Given the description of an element on the screen output the (x, y) to click on. 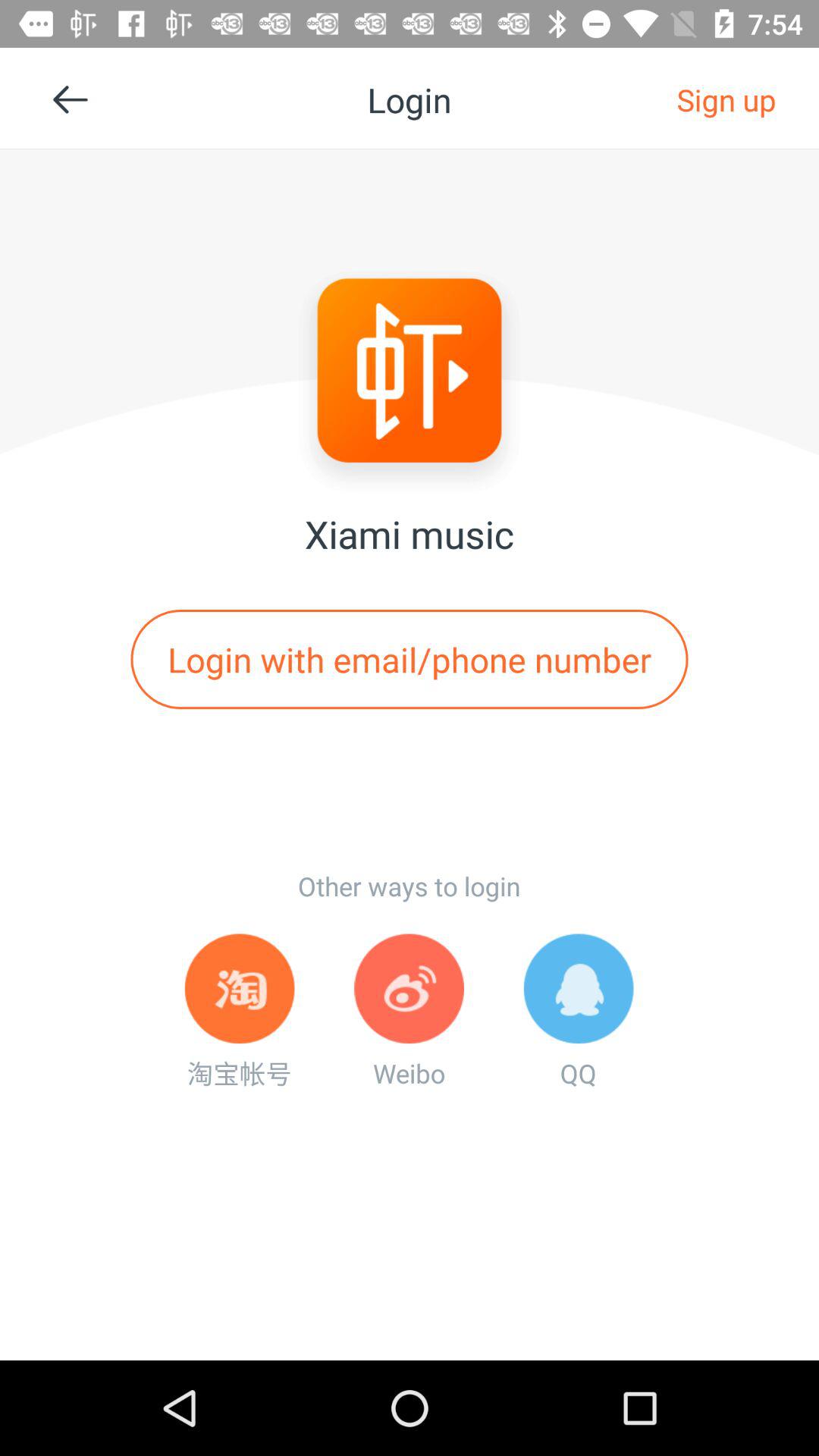
open item next to weibo (578, 1011)
